Given the description of an element on the screen output the (x, y) to click on. 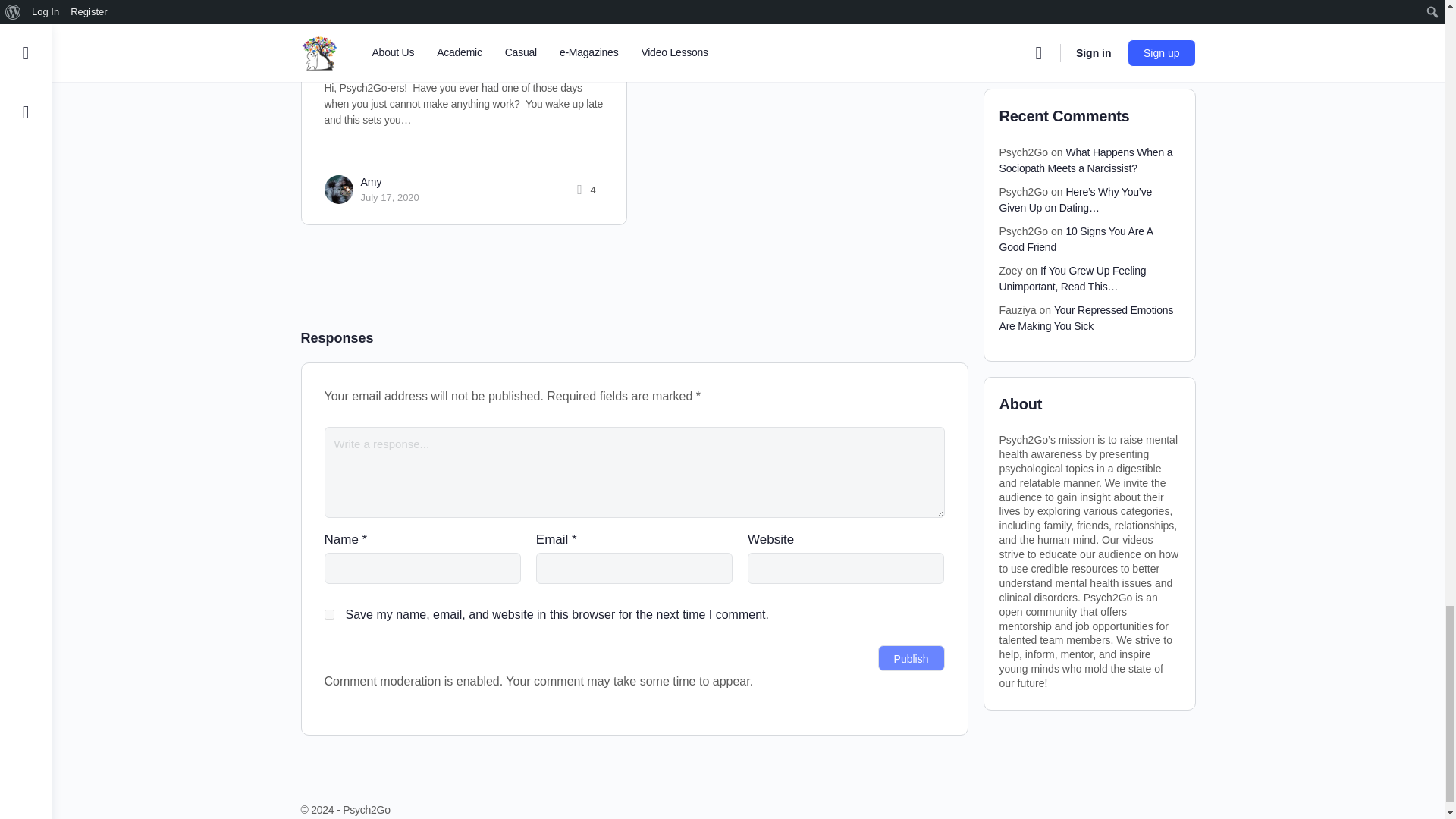
Publish (910, 657)
